Given the description of an element on the screen output the (x, y) to click on. 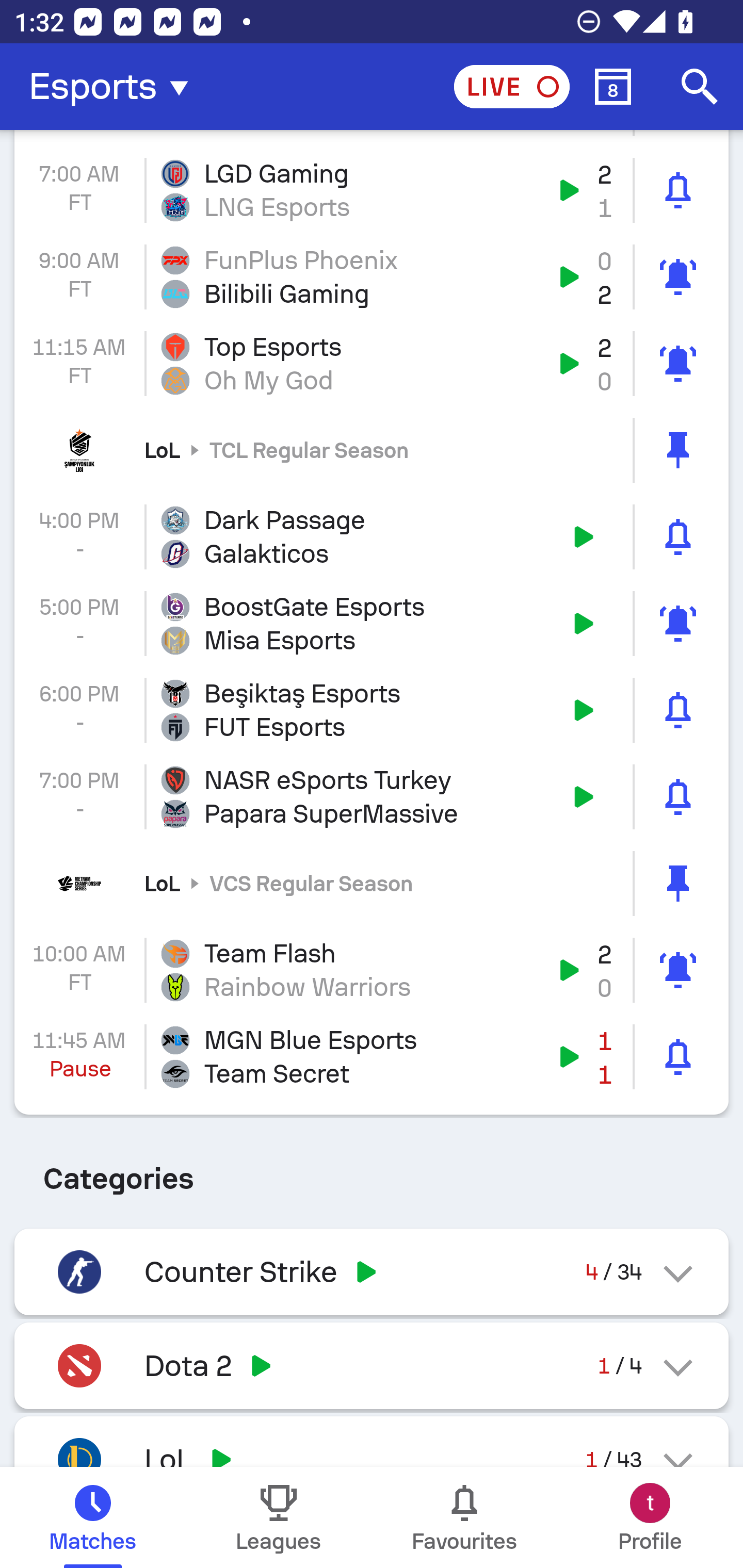
Esports (114, 86)
Calendar (612, 86)
Search (699, 86)
7:00 AM FT LGD Gaming LNG Esports 2 1 (371, 190)
9:00 AM FT FunPlus Phoenix Bilibili Gaming 0 2 (371, 276)
11:15 AM FT Top Esports Oh My God 2 0 (371, 363)
LoL TCL Regular Season (371, 450)
4:00 PM - Dark Passage Galakticos (371, 536)
5:00 PM - BoostGate Esports Misa Esports (371, 623)
6:00 PM - Beşiktaş Esports FUT Esports (371, 710)
7:00 PM - NASR eSports Turkey Papara SuperMassive (371, 797)
LoL VCS Regular Season (371, 883)
10:00 AM FT Team Flash Rainbow Warriors 2 0 (371, 969)
11:45 AM Pause MGN Blue Esports Team Secret 1 1 (371, 1056)
Categories (371, 1170)
Counter Strike 4 / 34 (371, 1272)
Dota 2 1 / 4 (371, 1365)
Leagues (278, 1517)
Favourites (464, 1517)
Profile (650, 1517)
